Given the description of an element on the screen output the (x, y) to click on. 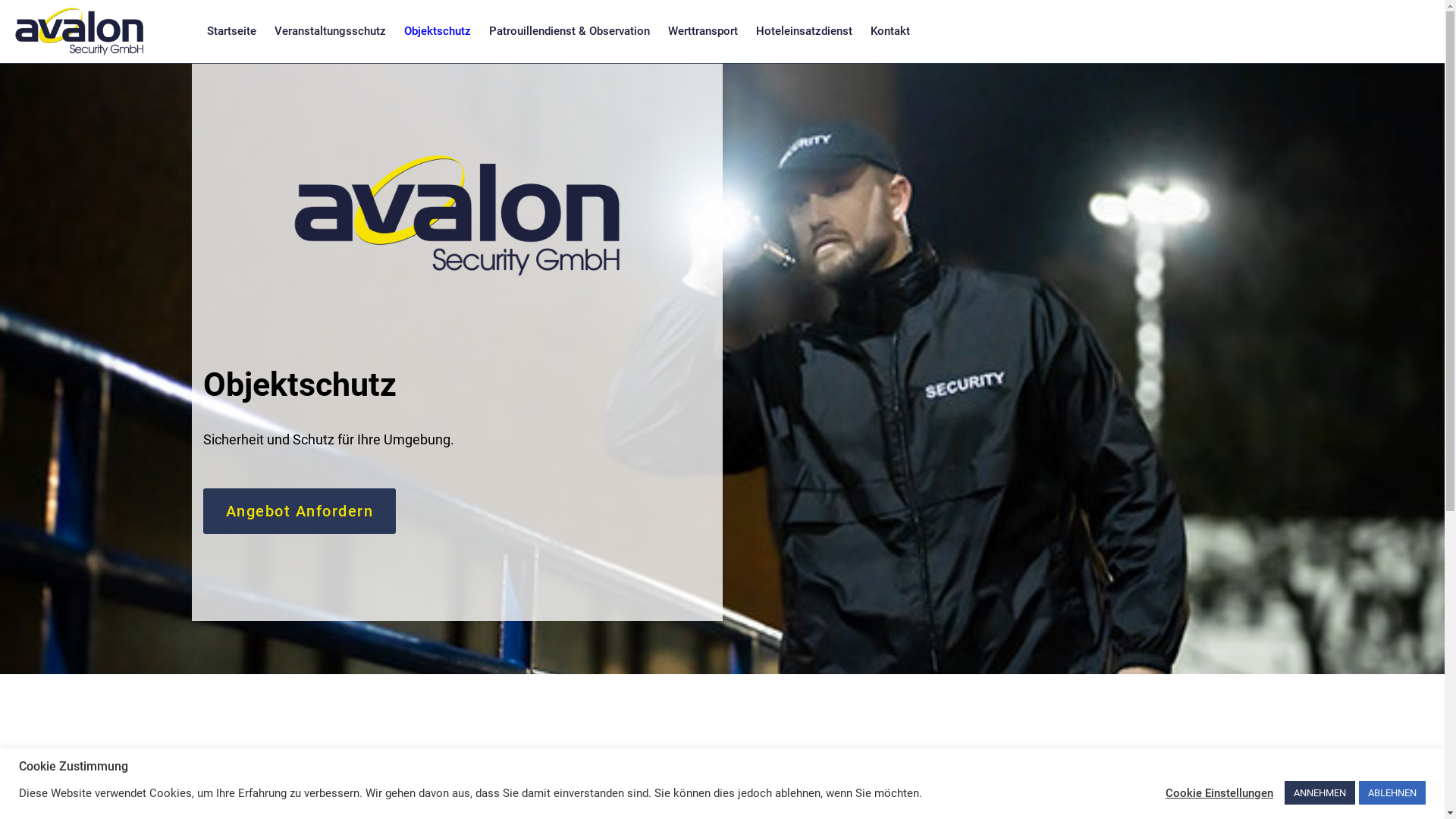
ABLEHNEN Element type: text (1391, 792)
Werttransport Element type: text (702, 30)
Startseite Element type: text (231, 30)
Objektschutz Element type: text (437, 30)
Kontakt Element type: text (890, 30)
ANNEHMEN Element type: text (1319, 792)
Cookie Einstellungen Element type: text (1219, 792)
Patrouillendienst & Observation Element type: text (569, 30)
Veranstaltungsschutz Element type: text (330, 30)
Hoteleinsatzdienst Element type: text (803, 30)
Angebot Anfordern Element type: text (299, 510)
